Given the description of an element on the screen output the (x, y) to click on. 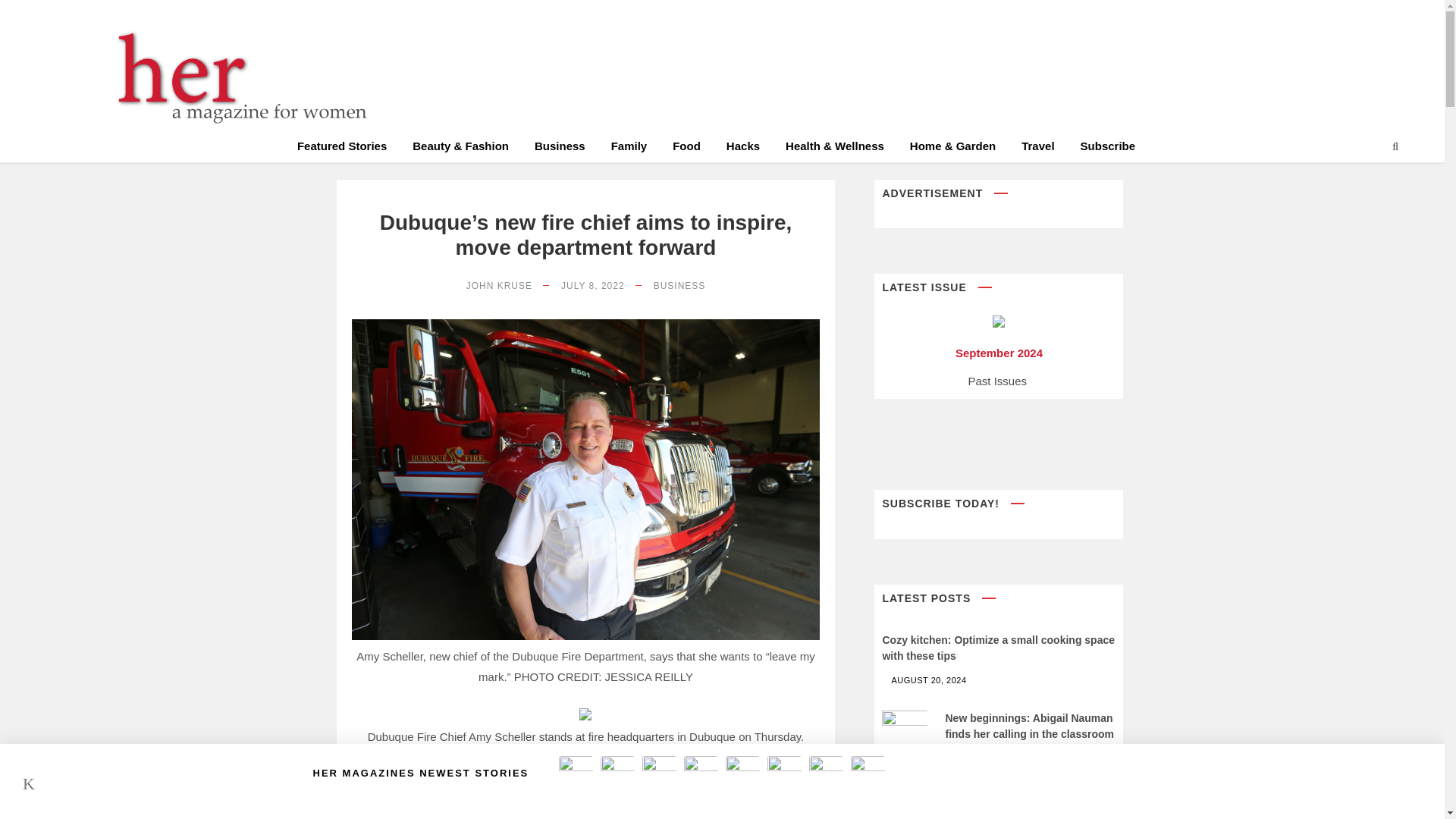
Family (629, 149)
her-logo (235, 77)
Travel (1038, 149)
Subscribe (1107, 149)
Featured Stories (342, 149)
Food (686, 149)
BUSINESS (679, 285)
JULY 8, 2022 (592, 285)
JOHN KRUSE (498, 285)
Posts by John Kruse (498, 285)
